Given the description of an element on the screen output the (x, y) to click on. 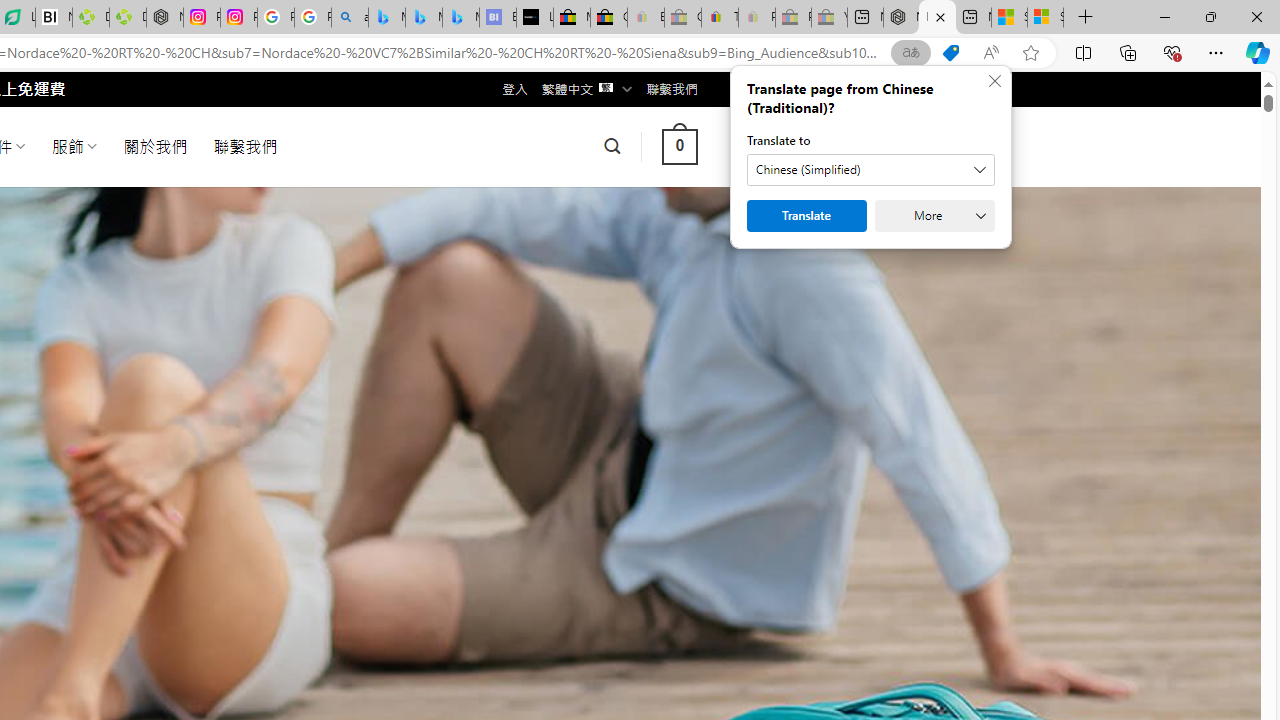
  0   (679, 146)
Descarga Driver Updater (127, 17)
Sign in to your Microsoft account (1045, 17)
Payments Terms of Use | eBay.com - Sleeping (756, 17)
